Given the description of an element on the screen output the (x, y) to click on. 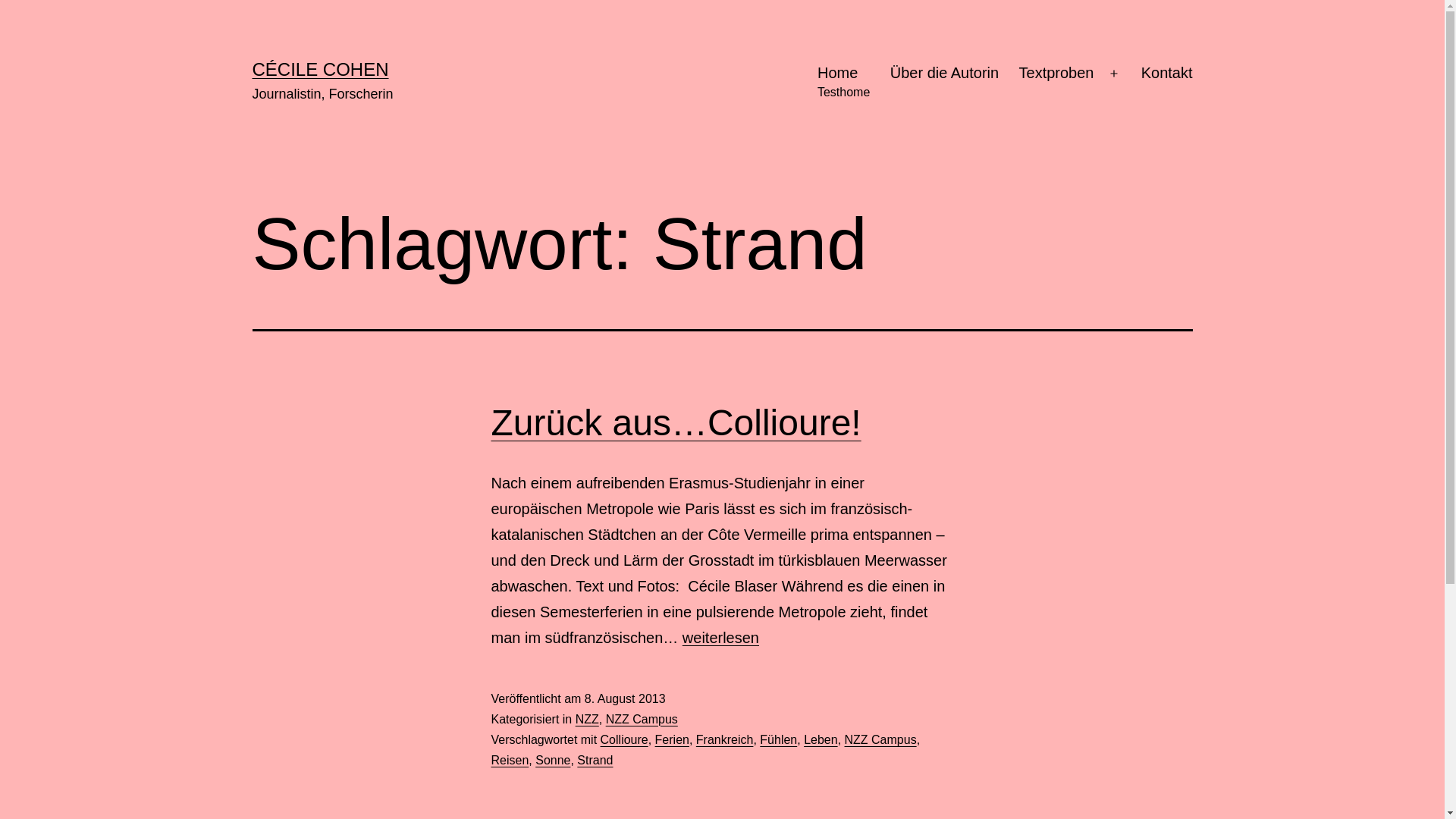
Sonne Element type: text (552, 759)
Textproben Element type: text (1055, 83)
NZZ Campus Element type: text (641, 718)
NZZ Element type: text (587, 718)
Ferien Element type: text (672, 739)
Strand Element type: text (594, 759)
Frankreich Element type: text (724, 739)
Leben Element type: text (820, 739)
Home
Testhome Element type: text (843, 83)
Collioure Element type: text (624, 739)
Reisen Element type: text (510, 759)
Kontakt Element type: text (1165, 83)
NZZ Campus Element type: text (880, 739)
